Given the description of an element on the screen output the (x, y) to click on. 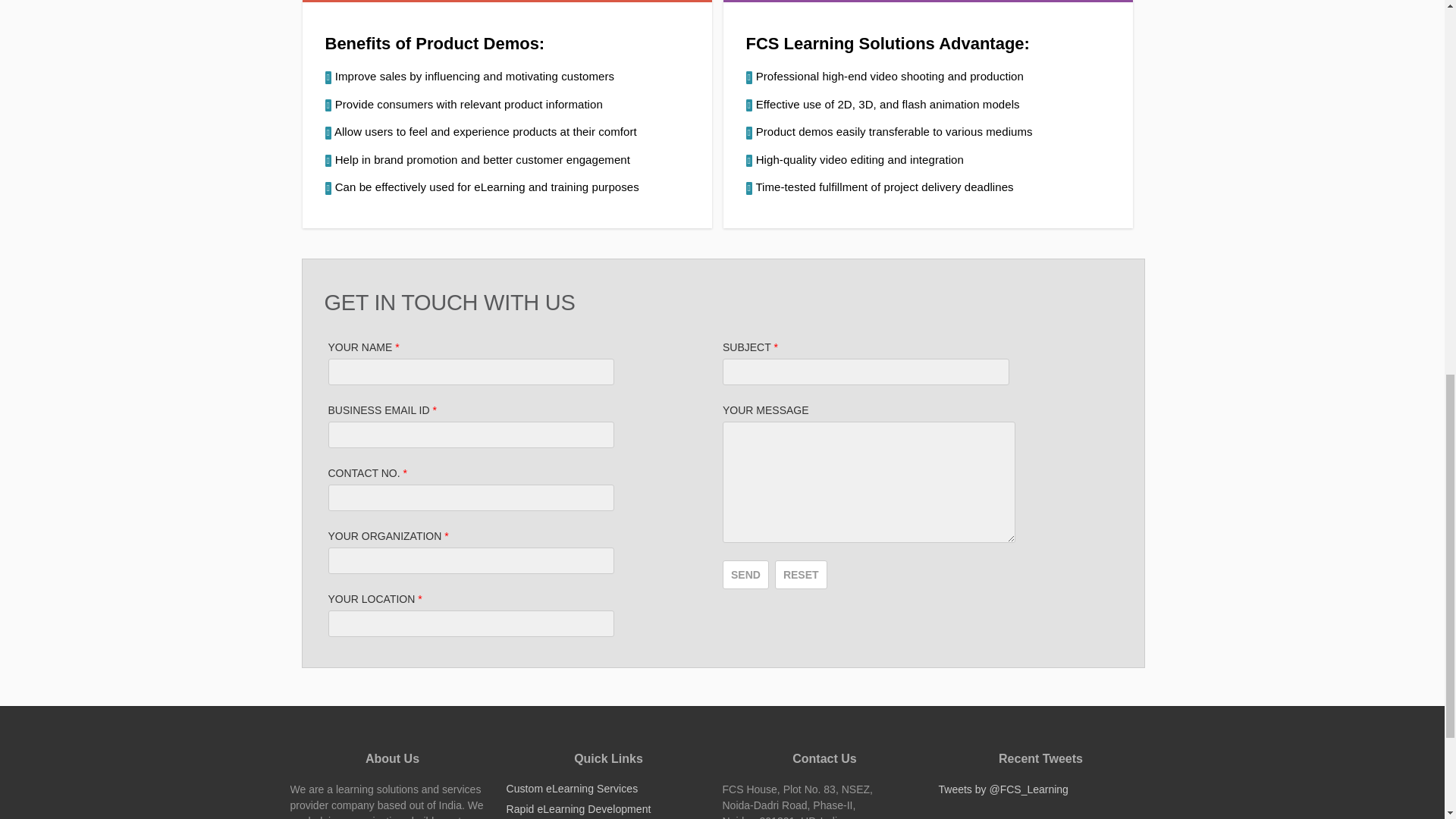
RESET (800, 574)
SEND (745, 574)
